Given the description of an element on the screen output the (x, y) to click on. 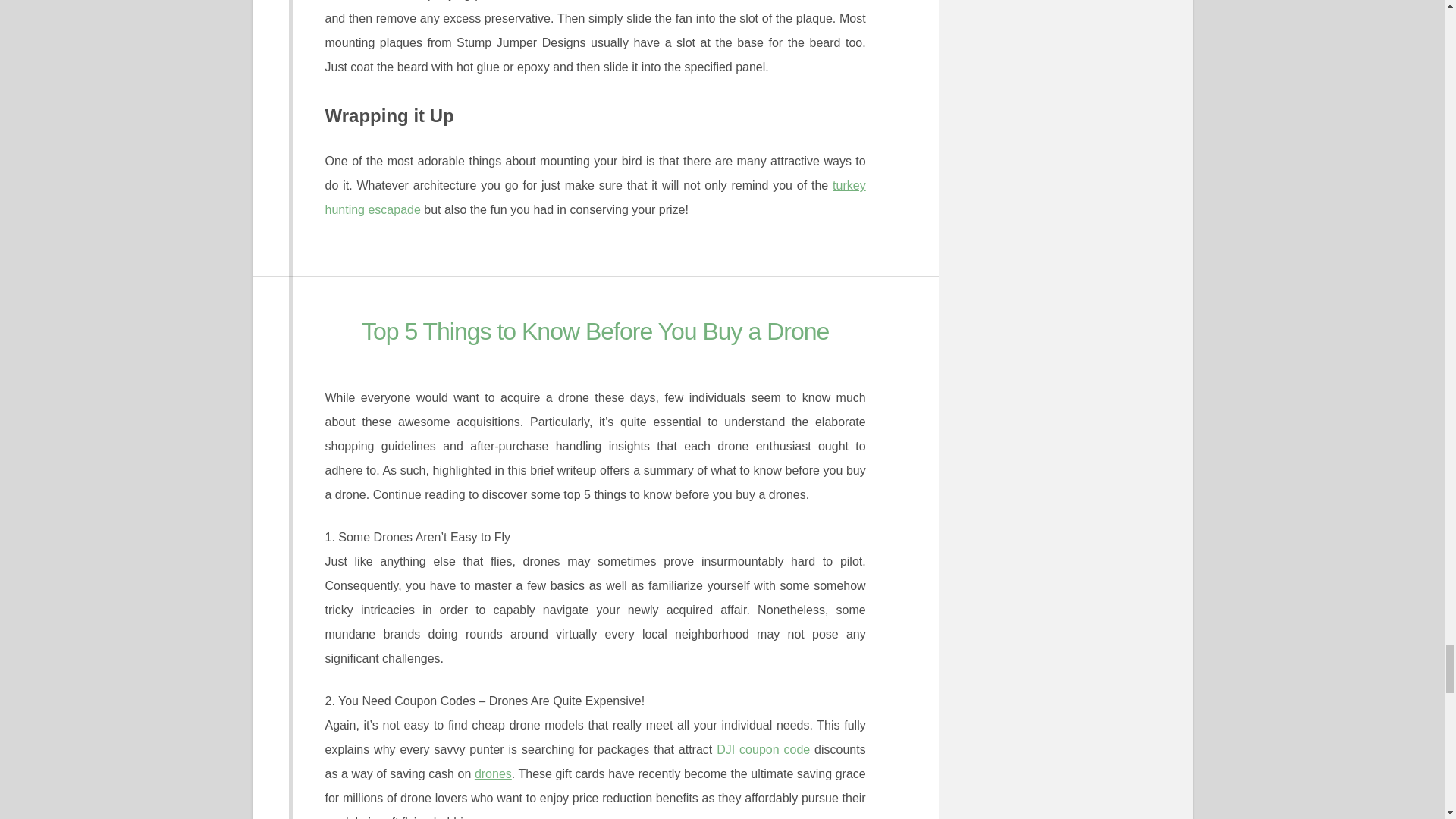
turkey hunting escapade (594, 197)
DJI coupon code (762, 748)
Top 5 Things to Know Before You Buy a Drone (594, 330)
drones (493, 773)
